Given the description of an element on the screen output the (x, y) to click on. 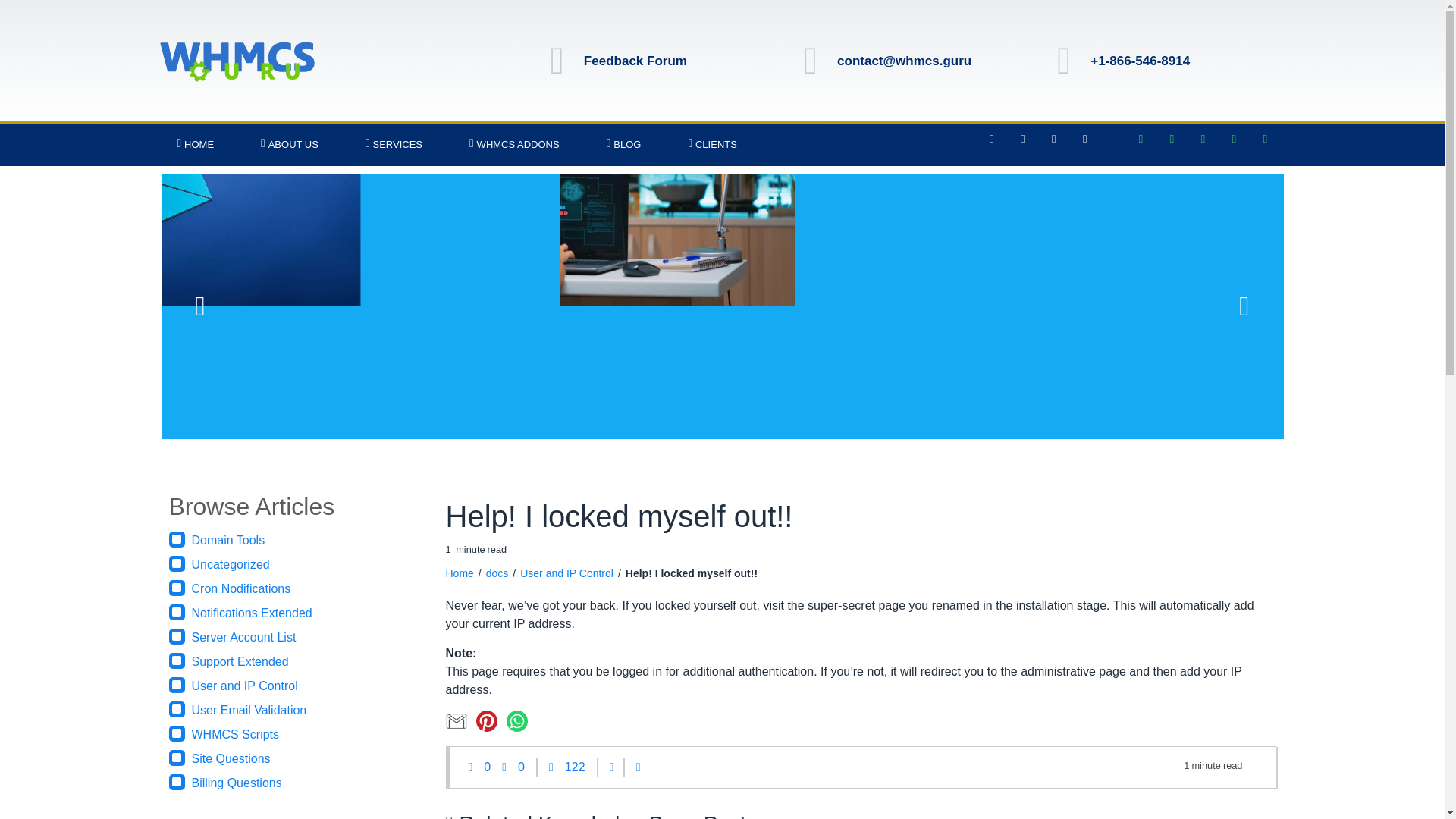
docs (497, 573)
Help! I locked myself out!! (691, 573)
Home (459, 573)
Total Views (565, 766)
User and IP Control (565, 573)
Like this Article (485, 766)
share to whatsapp (520, 727)
Dislike this Article (518, 766)
WHMCS ADDONS (514, 144)
HOME (194, 144)
Feedback Forum (635, 60)
SERVICES (393, 144)
ABOUT US (289, 144)
